Given the description of an element on the screen output the (x, y) to click on. 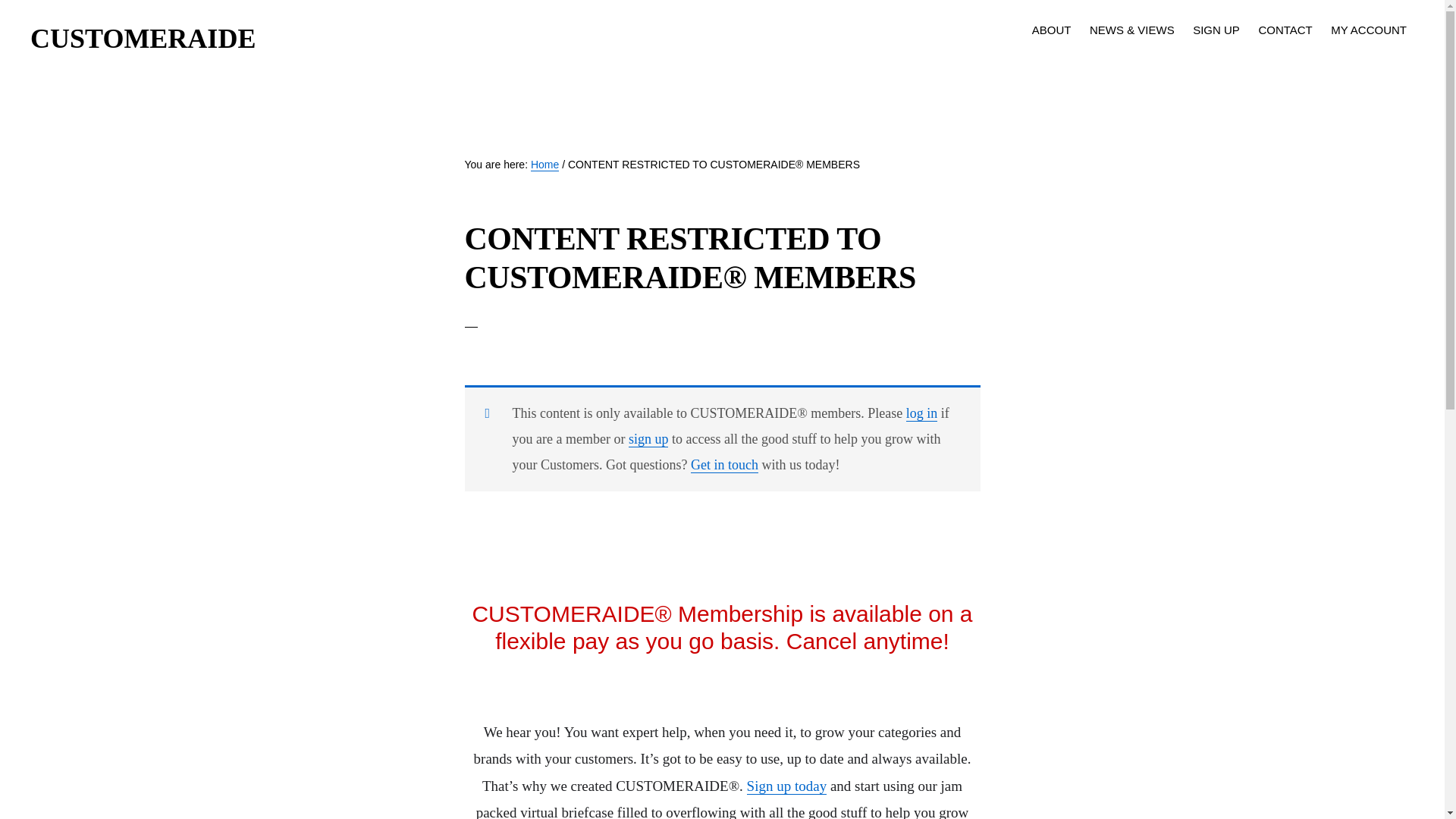
HELP ON DEMAND (548, 775)
CONTACT (1284, 29)
PRIVACY (791, 775)
ABOUT (1051, 29)
SIGN UP (1216, 29)
log in (921, 413)
Home (545, 164)
Sign up today (786, 786)
SIGN UP (631, 775)
Get in touch (724, 465)
MY ACCOUNT (1368, 29)
Aide Online (836, 749)
sign up (648, 439)
CUSTOMERAIDE (143, 38)
